Given the description of an element on the screen output the (x, y) to click on. 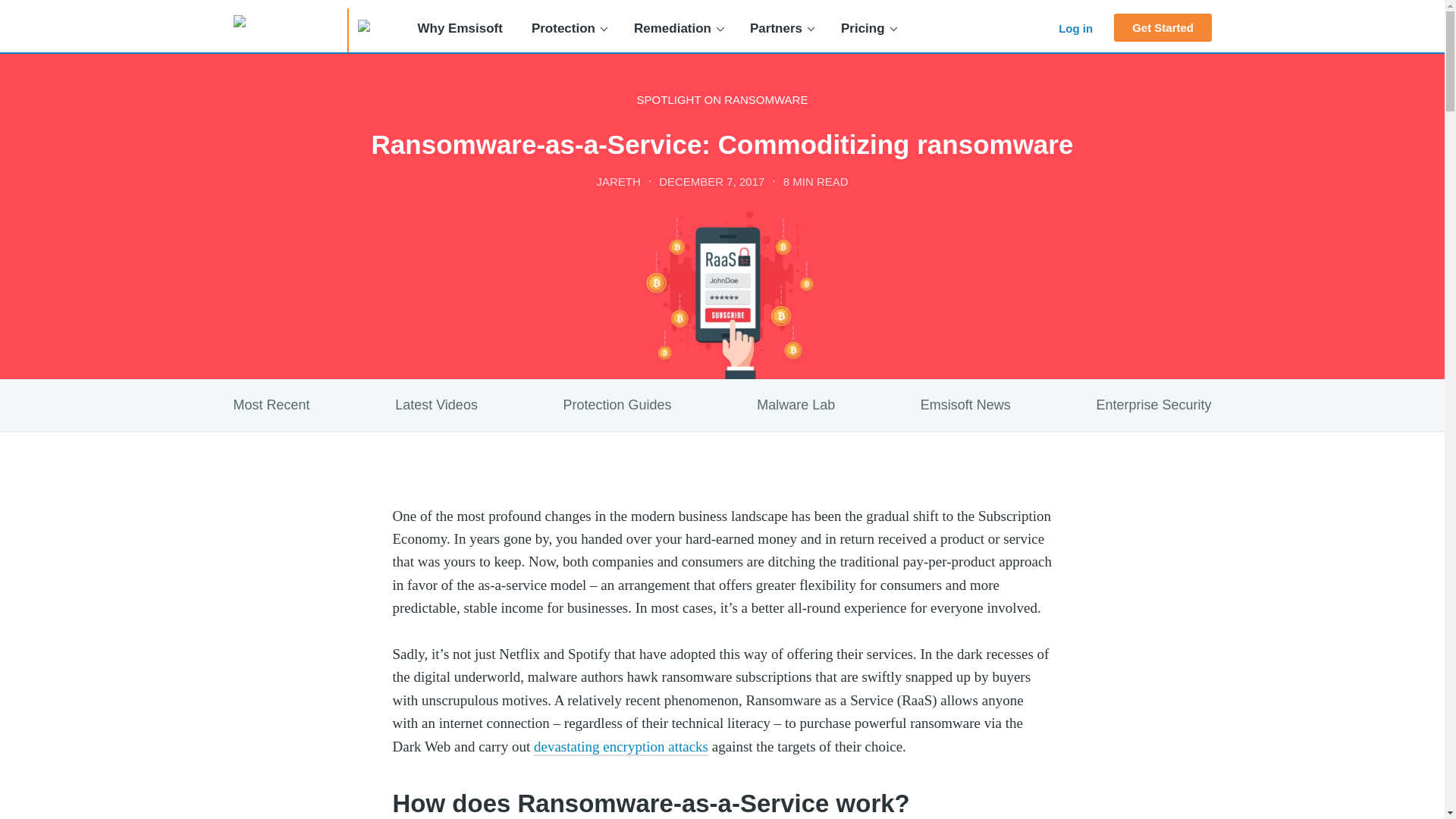
Partners (781, 29)
Posts by Jareth (617, 181)
MyEmsisoft Login (1128, 27)
Emsisoft News (965, 405)
Malware Lab (795, 405)
Enterprise Security (1153, 405)
Why Emsisoft (459, 29)
Emsisoft (284, 26)
Protection (568, 29)
Most Recent (271, 405)
